Given the description of an element on the screen output the (x, y) to click on. 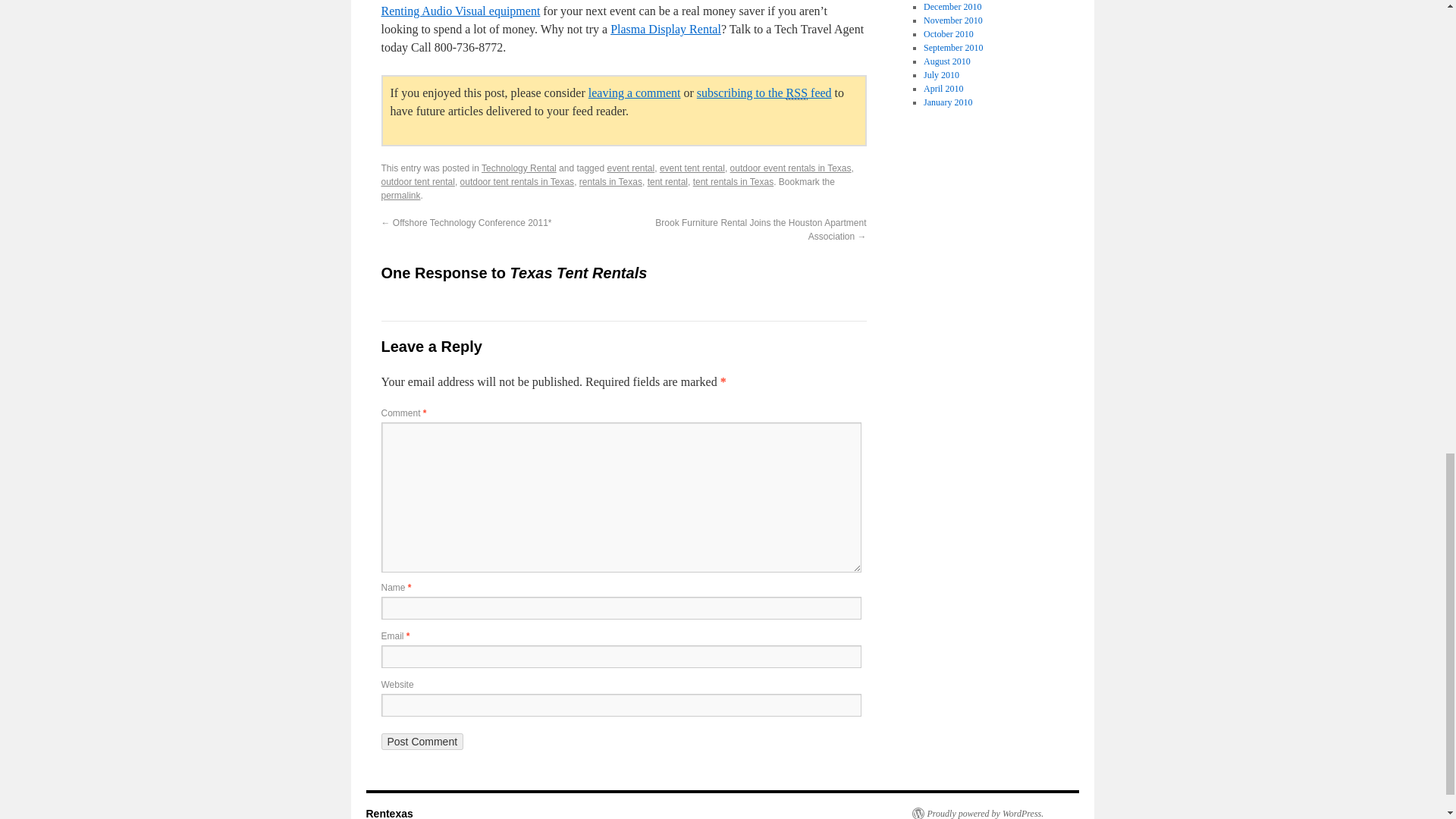
leaving a comment (634, 92)
event rental (630, 167)
Technology Rental (518, 167)
permalink (400, 195)
tent rentals in Texas (733, 181)
Really Simple Syndication (797, 92)
rentals in Texas (610, 181)
Post Comment (421, 741)
event tent rental (692, 167)
tent rental (667, 181)
subscribing to the RSS feed (764, 92)
Plasma Display Rental (665, 29)
Renting Audio Visual equipment (460, 10)
Permalink to Texas Tent Rentals (400, 195)
Syndicate this site using RSS (764, 92)
